Given the description of an element on the screen output the (x, y) to click on. 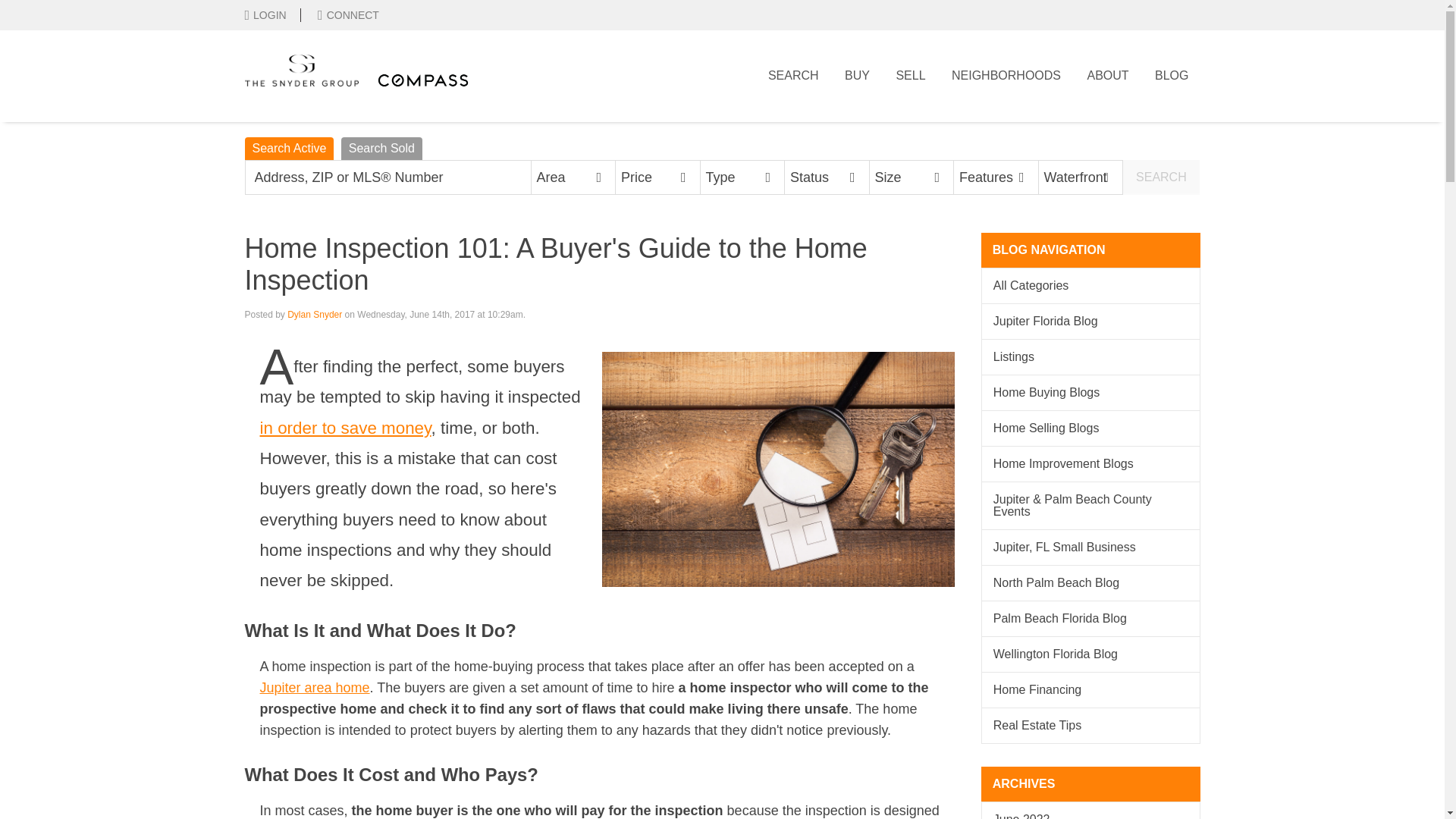
LOGIN (271, 15)
Home Selling Blogs (1090, 428)
Palm Beach Florida Blog (1090, 618)
North Palm Beach Blog (1090, 582)
Jupiter Florida Blog (1090, 321)
Jupiter, FL Small Business (1090, 547)
All Categories (1090, 285)
Listings (1090, 356)
CONNECT (341, 14)
Home Improvement Blogs (1090, 463)
Home Buying Blogs (1090, 392)
